Given the description of an element on the screen output the (x, y) to click on. 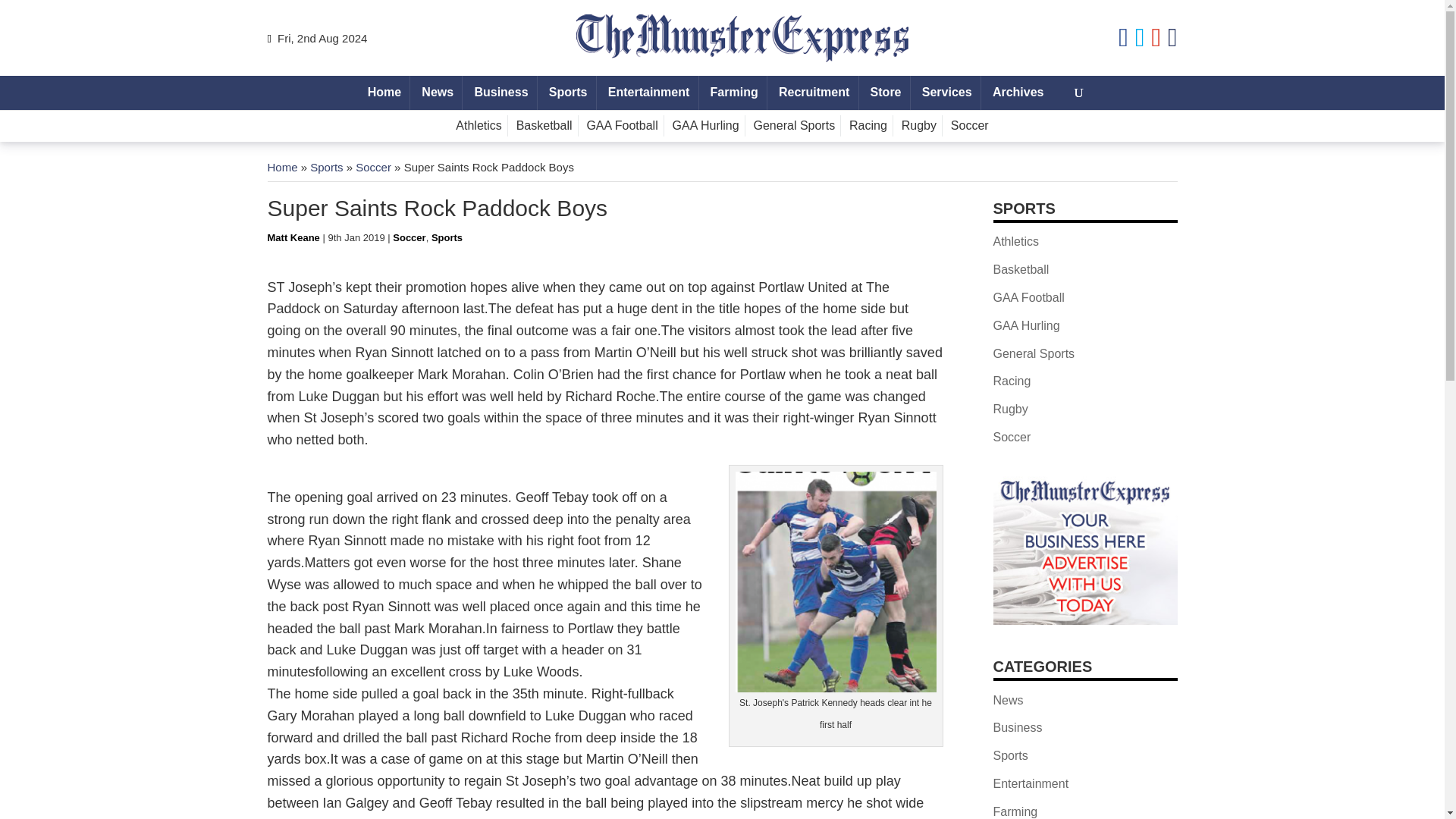
Entertainment (648, 92)
Archives (1018, 92)
Basketball (544, 125)
News (437, 92)
GAA Hurling (705, 125)
Store (884, 92)
General Sports (794, 125)
Soccer (373, 166)
Soccer (969, 125)
GAA Football (621, 125)
Business (501, 92)
Sports (567, 92)
Home (383, 92)
Services (946, 92)
Home (281, 166)
